Given the description of an element on the screen output the (x, y) to click on. 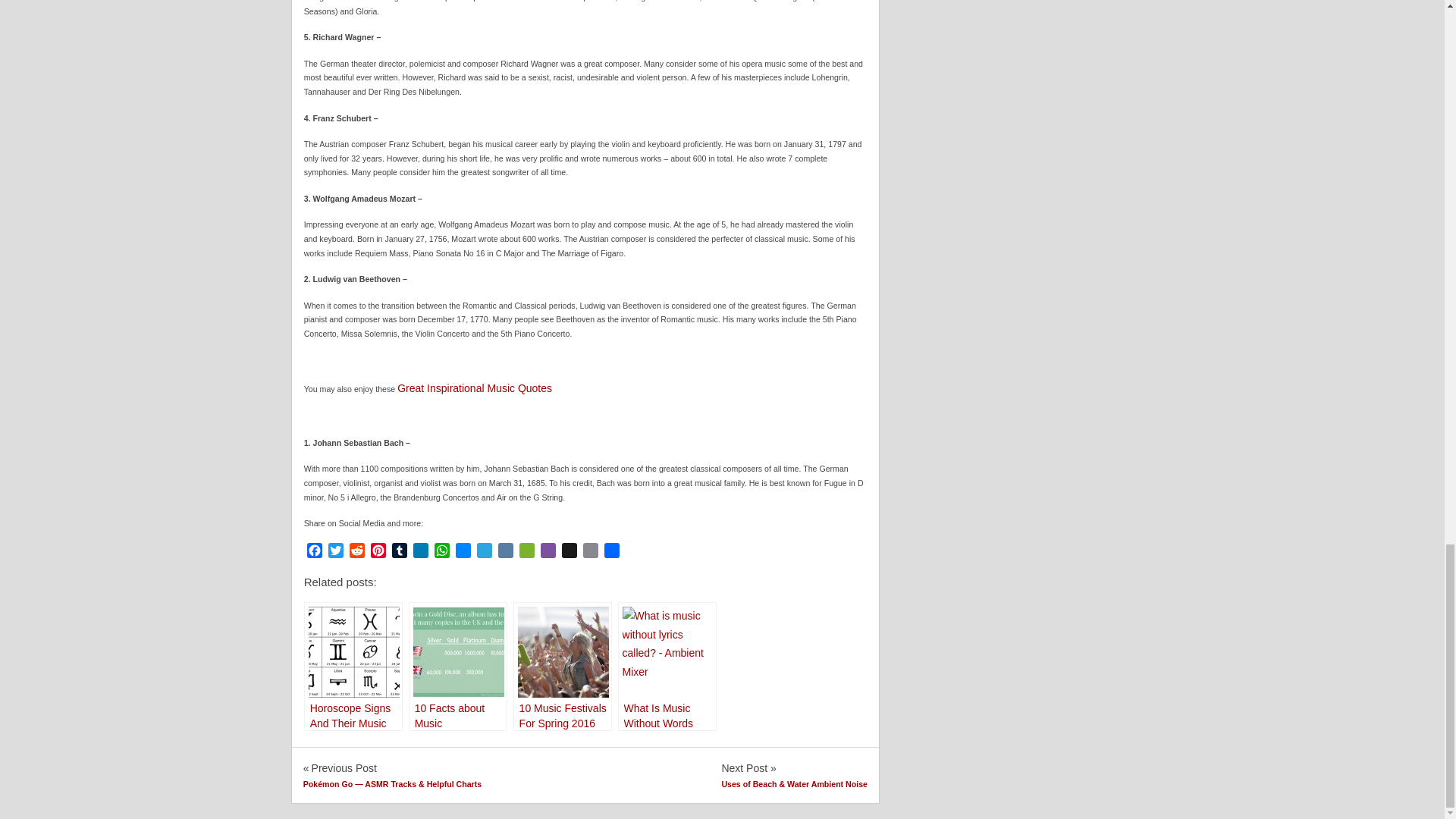
Telegram (484, 551)
Pinterest (378, 551)
Reddit (357, 551)
Great Inspirational Music Quotes (474, 387)
VK (505, 551)
Tumblr (399, 551)
LinkedIn (420, 551)
Pinterest (378, 551)
Buffer (569, 551)
Tumblr (399, 551)
Email (590, 551)
WhatsApp (441, 551)
LinkedIn (420, 551)
WhatsApp (441, 551)
Telegram (484, 551)
